Given the description of an element on the screen output the (x, y) to click on. 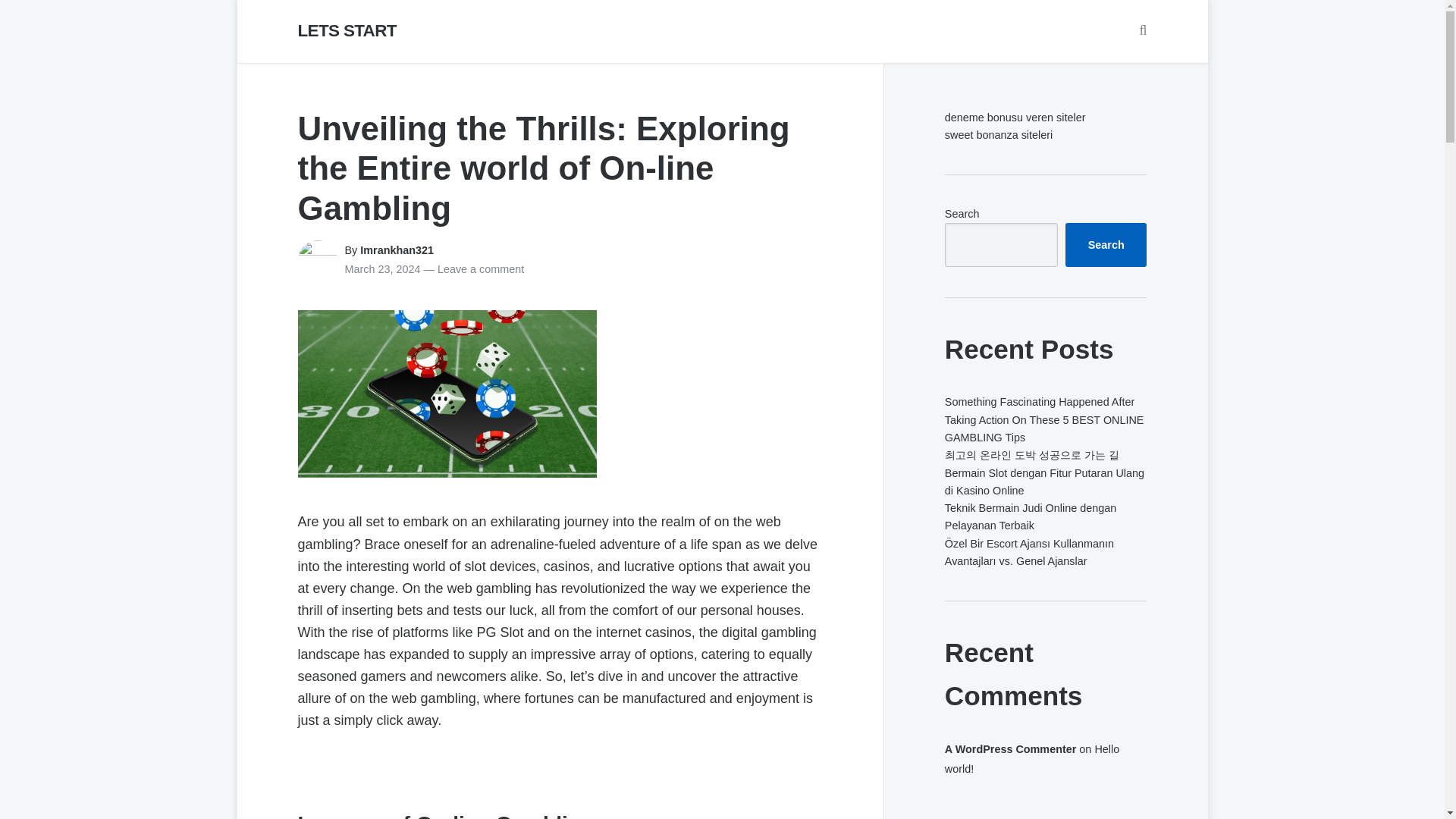
Bermain Slot dengan Fitur Putaran Ulang di Kasino Online (1044, 481)
LETS START (346, 30)
A WordPress Commenter (1010, 748)
Search (1136, 31)
sweet bonanza siteleri (998, 134)
Hello world! (1031, 758)
deneme bonusu veren siteler (1015, 116)
Search (1106, 244)
Imrankhan321 (396, 250)
Leave a comment (481, 268)
Teknik Bermain Judi Online dengan Pelayanan Terbaik (1030, 516)
